Given the description of an element on the screen output the (x, y) to click on. 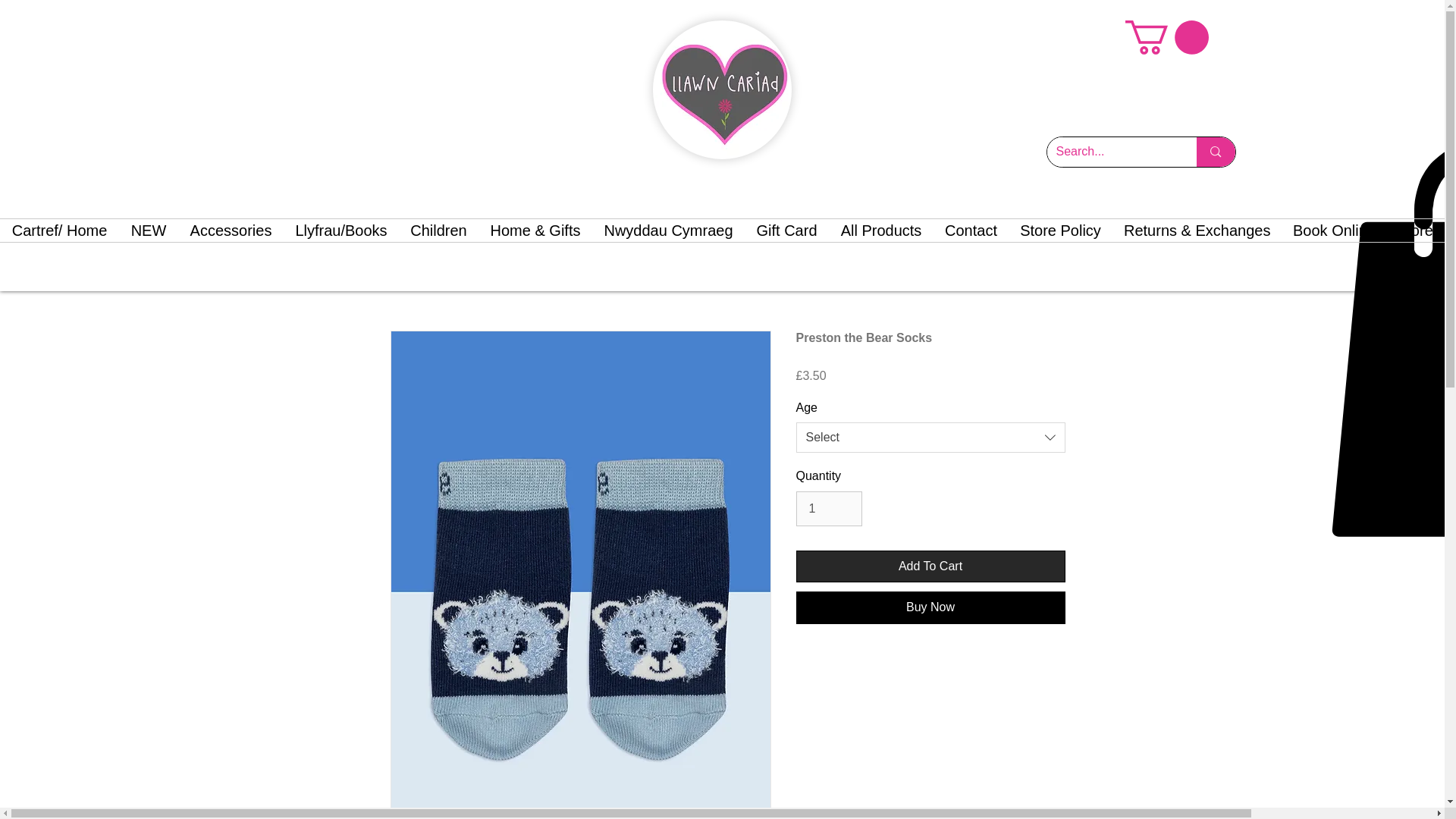
Accessories (230, 230)
Nwyddau Cymraeg (668, 230)
1 (828, 508)
NEW (148, 230)
Children (438, 230)
Gift Card (786, 230)
